Given the description of an element on the screen output the (x, y) to click on. 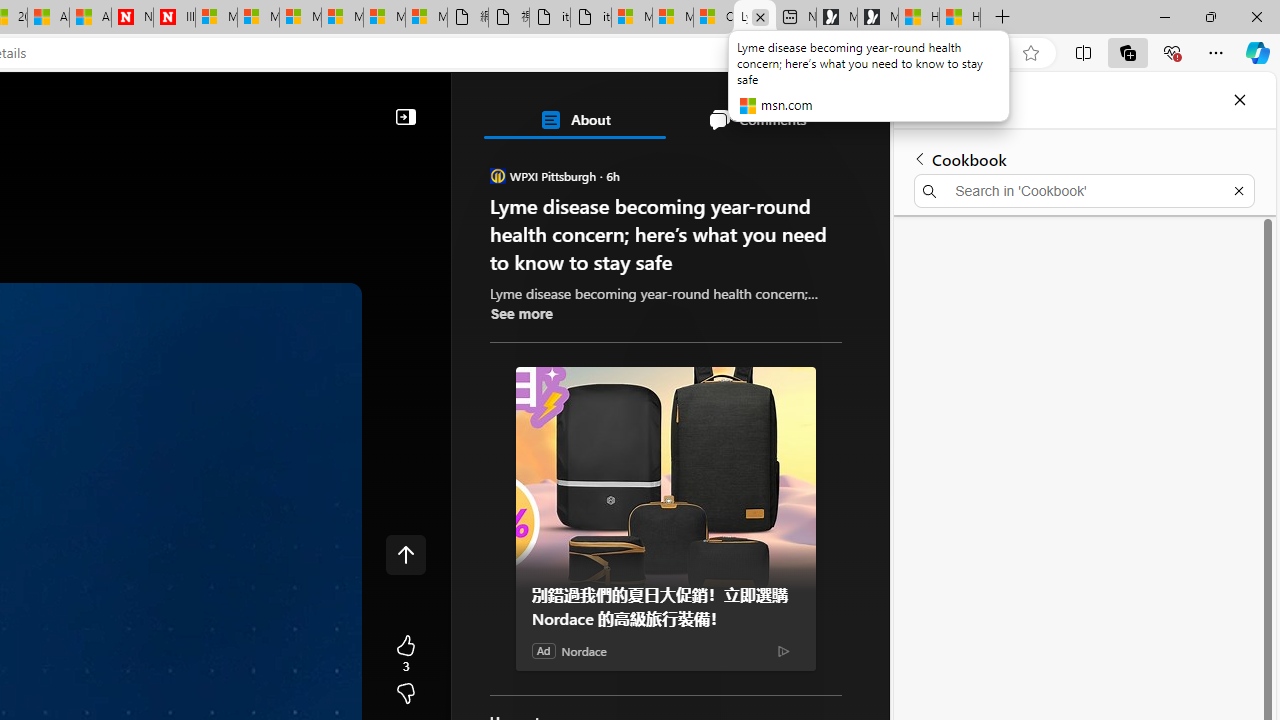
Close (1239, 99)
New tab (795, 17)
Enhance video (991, 53)
Add this page to favorites (Ctrl+D) (1030, 53)
Illness news & latest pictures from Newsweek.com (173, 17)
Open Copilot (162, 105)
Split screen (1083, 52)
Open settings (845, 105)
Collections (1128, 52)
Search in 'Cookbook' (1084, 190)
Microsoft account | Privacy (672, 17)
